Given the description of an element on the screen output the (x, y) to click on. 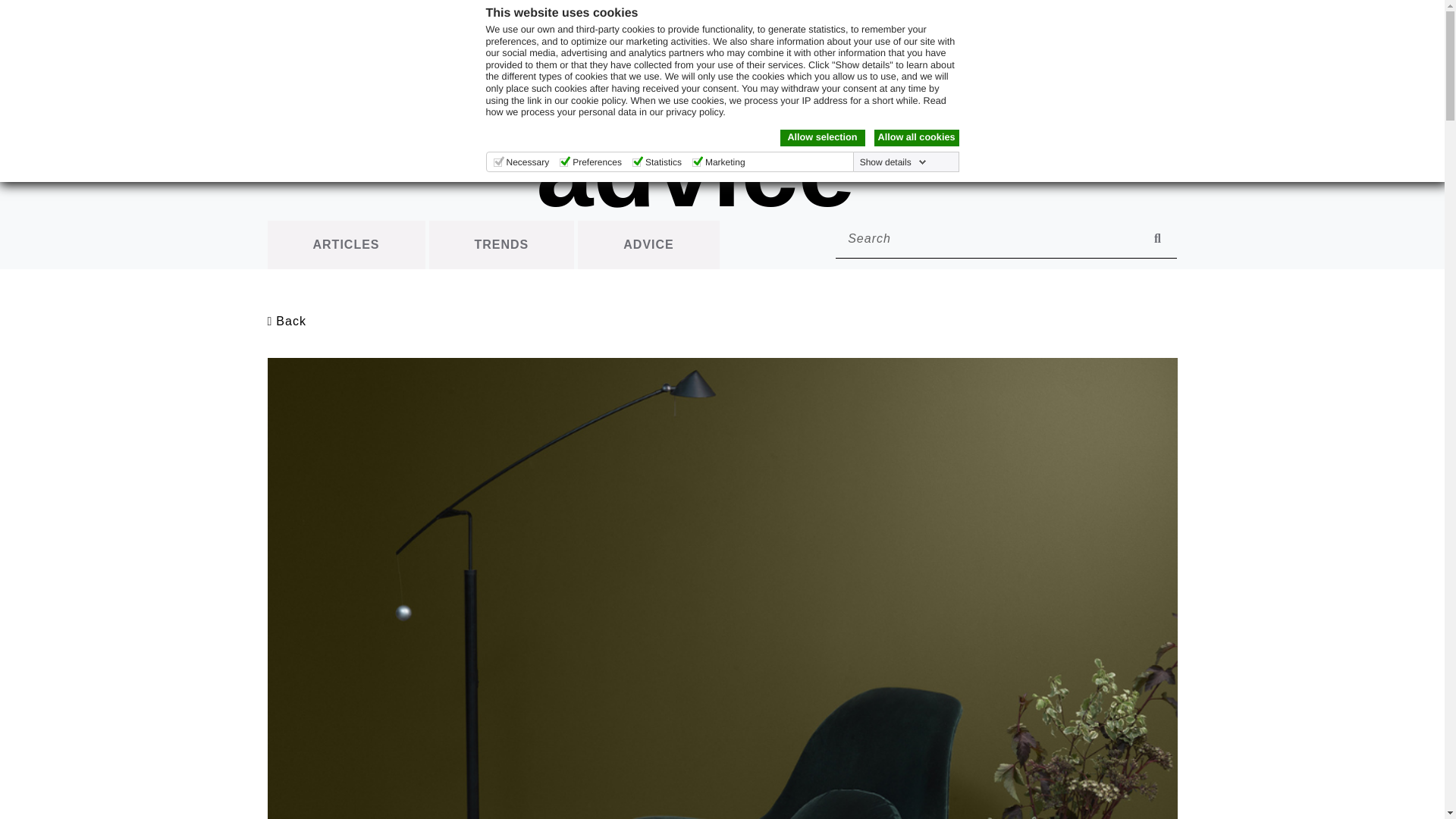
Allow selection (821, 137)
Allow all cookies (915, 137)
Show details (893, 162)
